Given the description of an element on the screen output the (x, y) to click on. 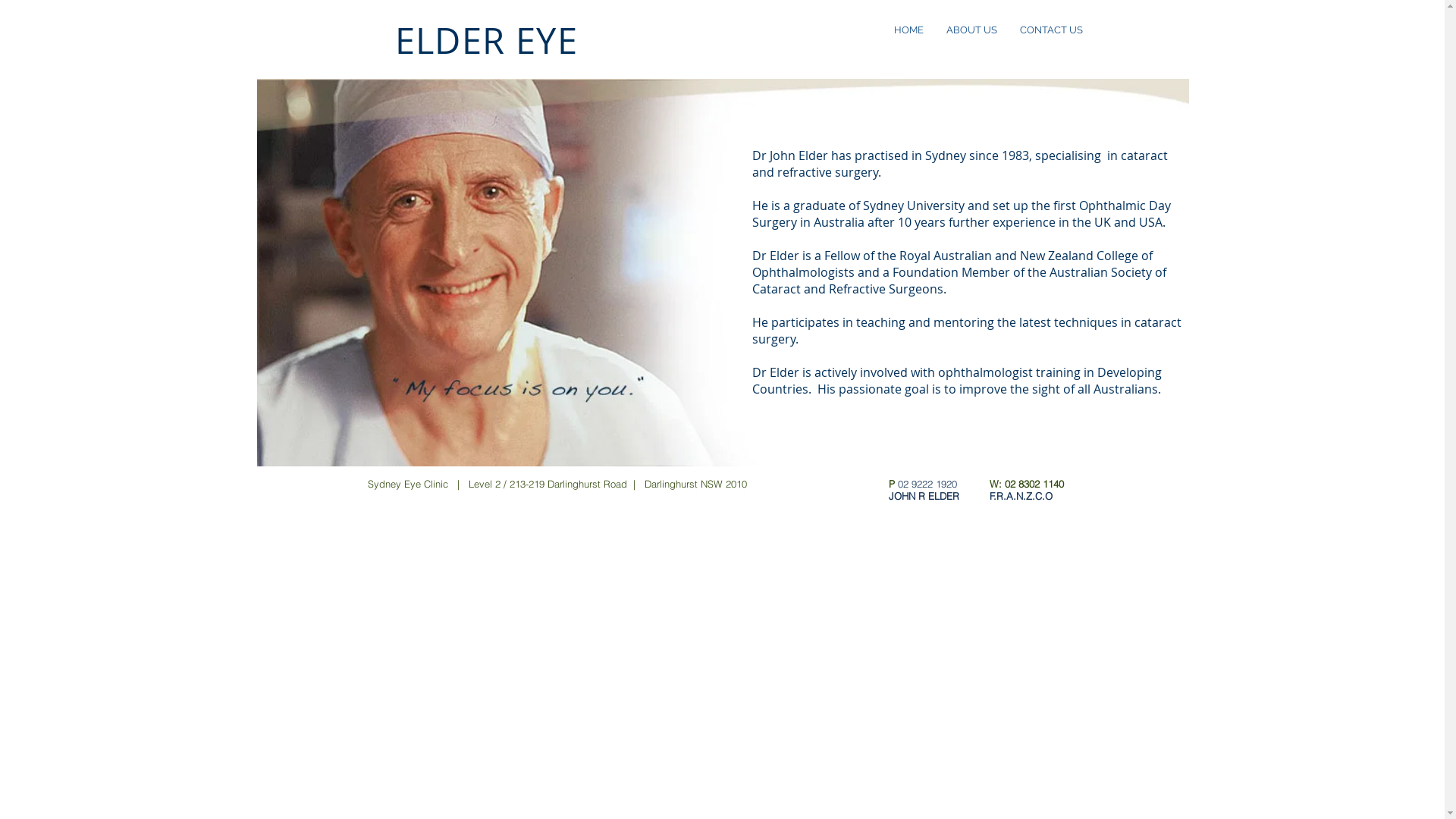
HOME Element type: text (908, 29)
ABOUT US Element type: text (970, 29)
ELDER EYE Element type: text (485, 40)
CONTACT US Element type: text (1051, 29)
